Given the description of an element on the screen output the (x, y) to click on. 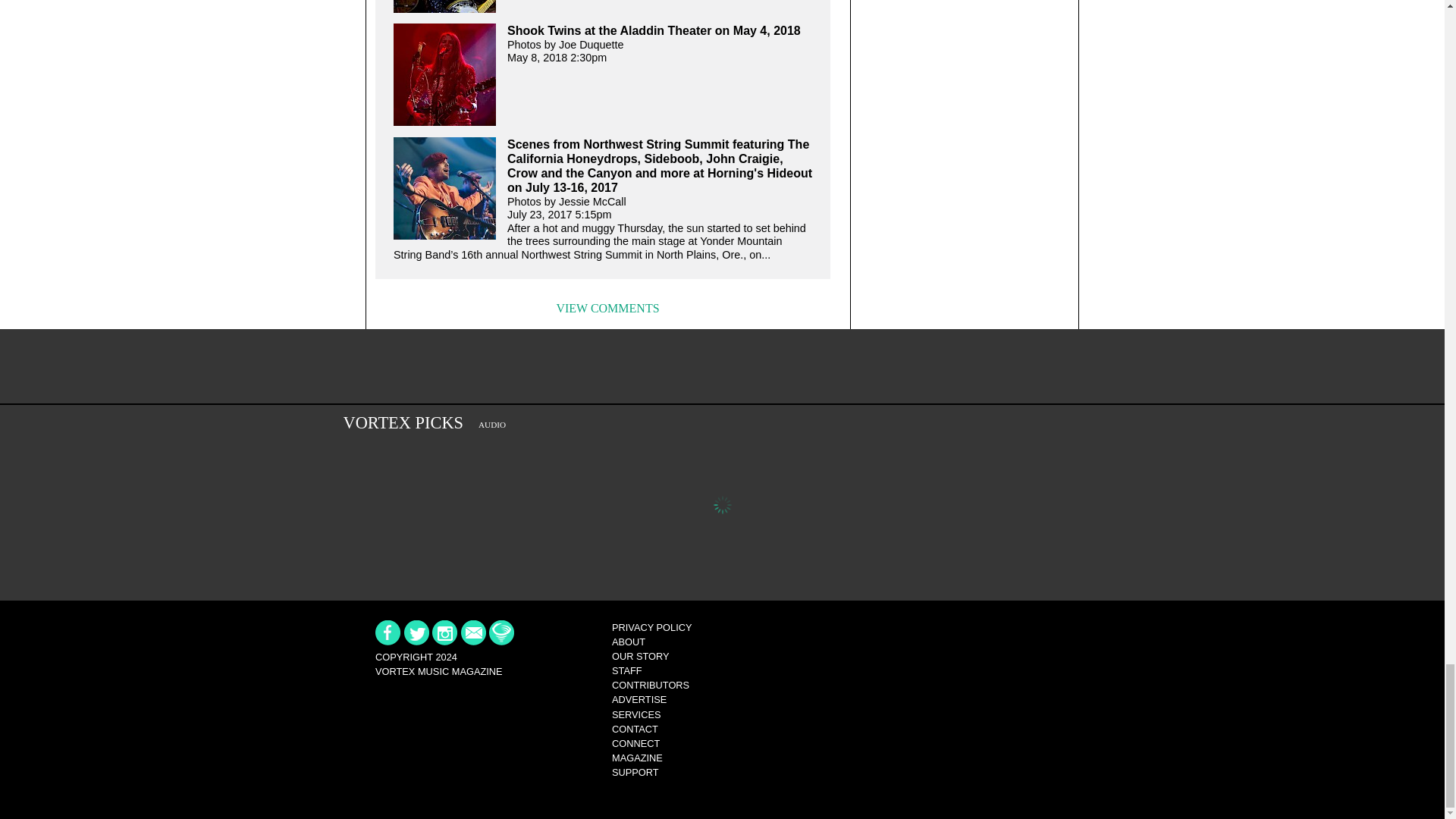
3rd party ad content (721, 366)
